Given the description of an element on the screen output the (x, y) to click on. 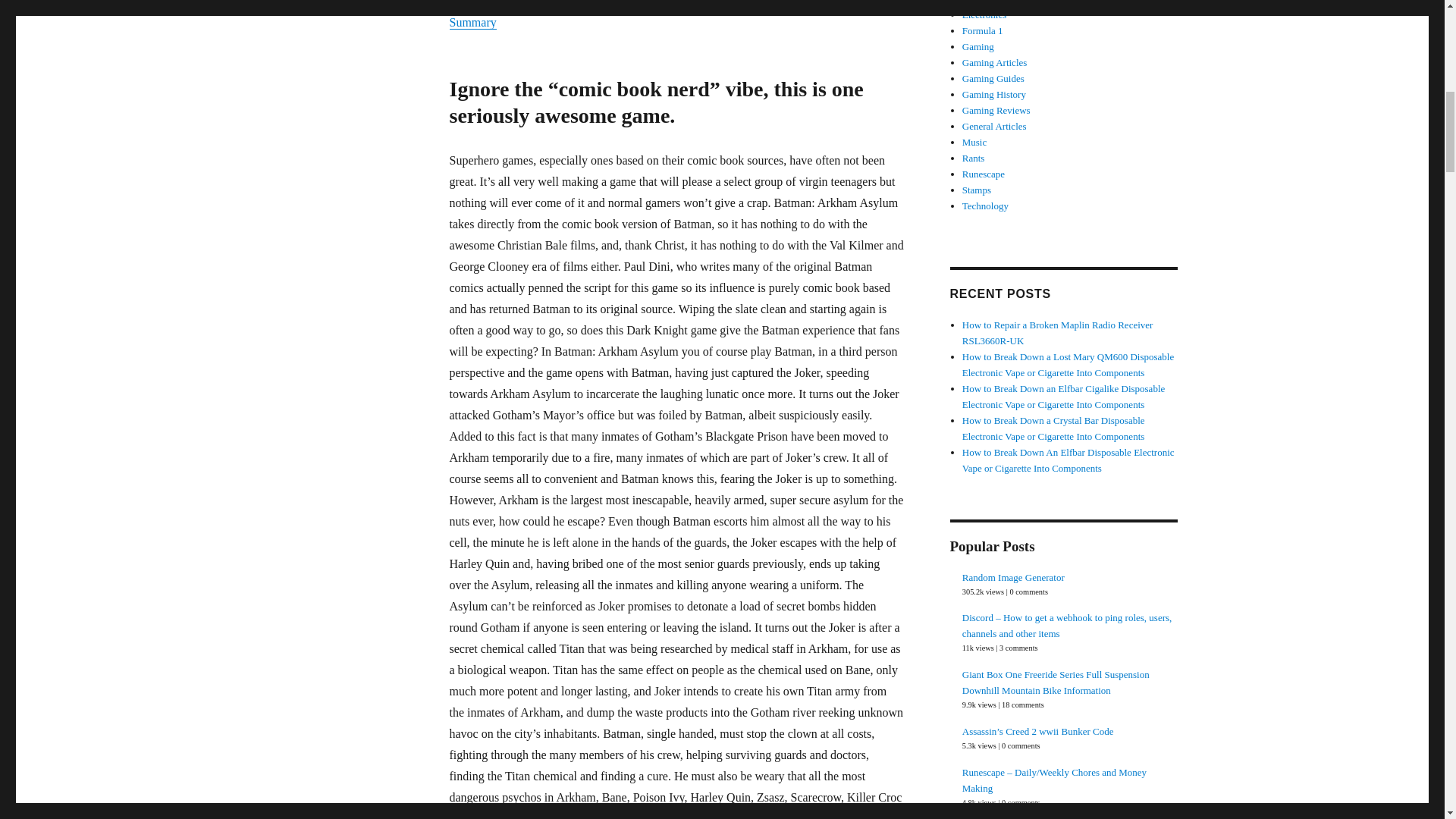
Gaming Guides (993, 78)
Gaming (978, 46)
Dayz (972, 2)
Conclusion (475, 3)
Summary (472, 21)
Gaming (283, 2)
Gaming Reviews (344, 2)
Electronics (984, 14)
Gaming Articles (994, 61)
Formula 1 (982, 30)
